Given the description of an element on the screen output the (x, y) to click on. 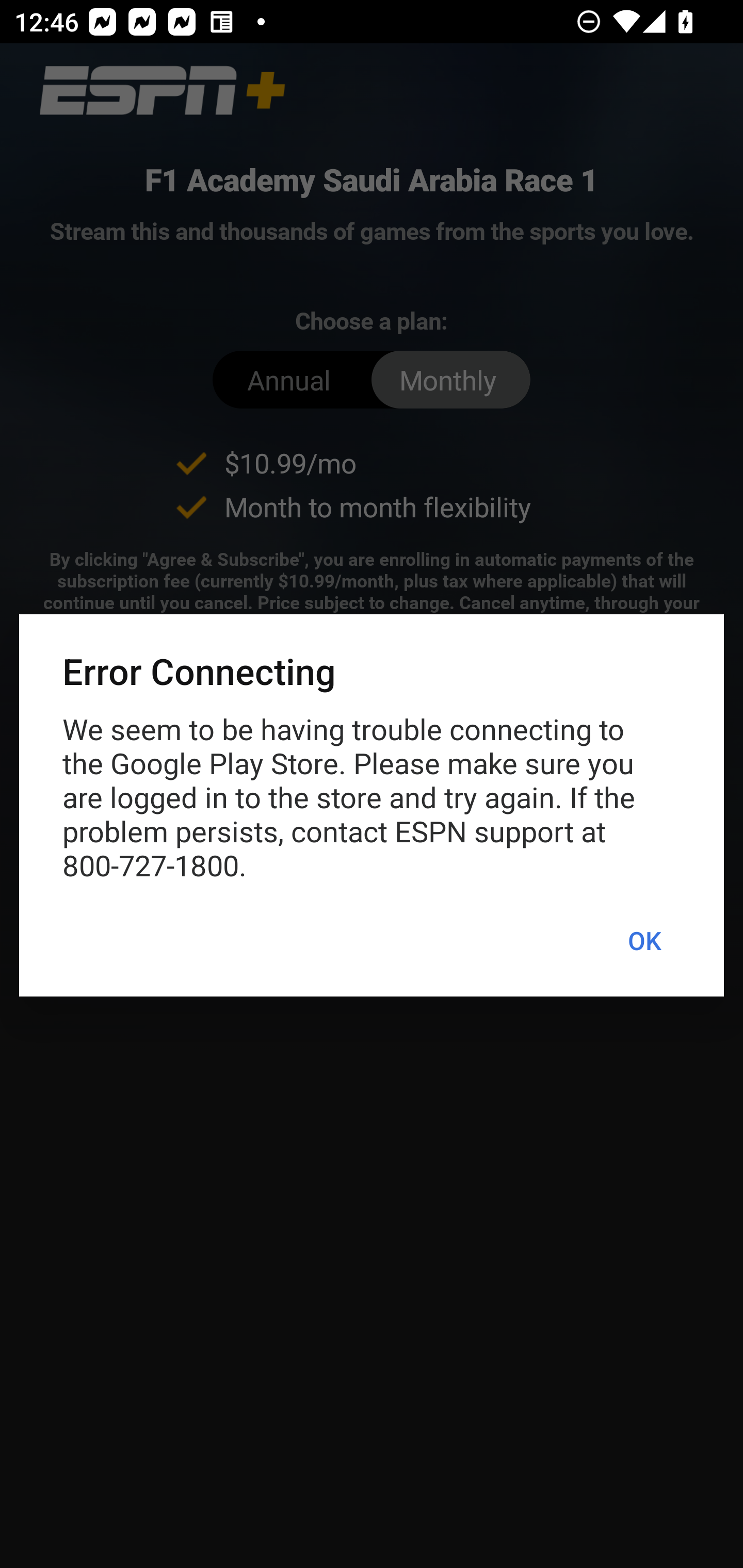
OK (644, 940)
